Given the description of an element on the screen output the (x, y) to click on. 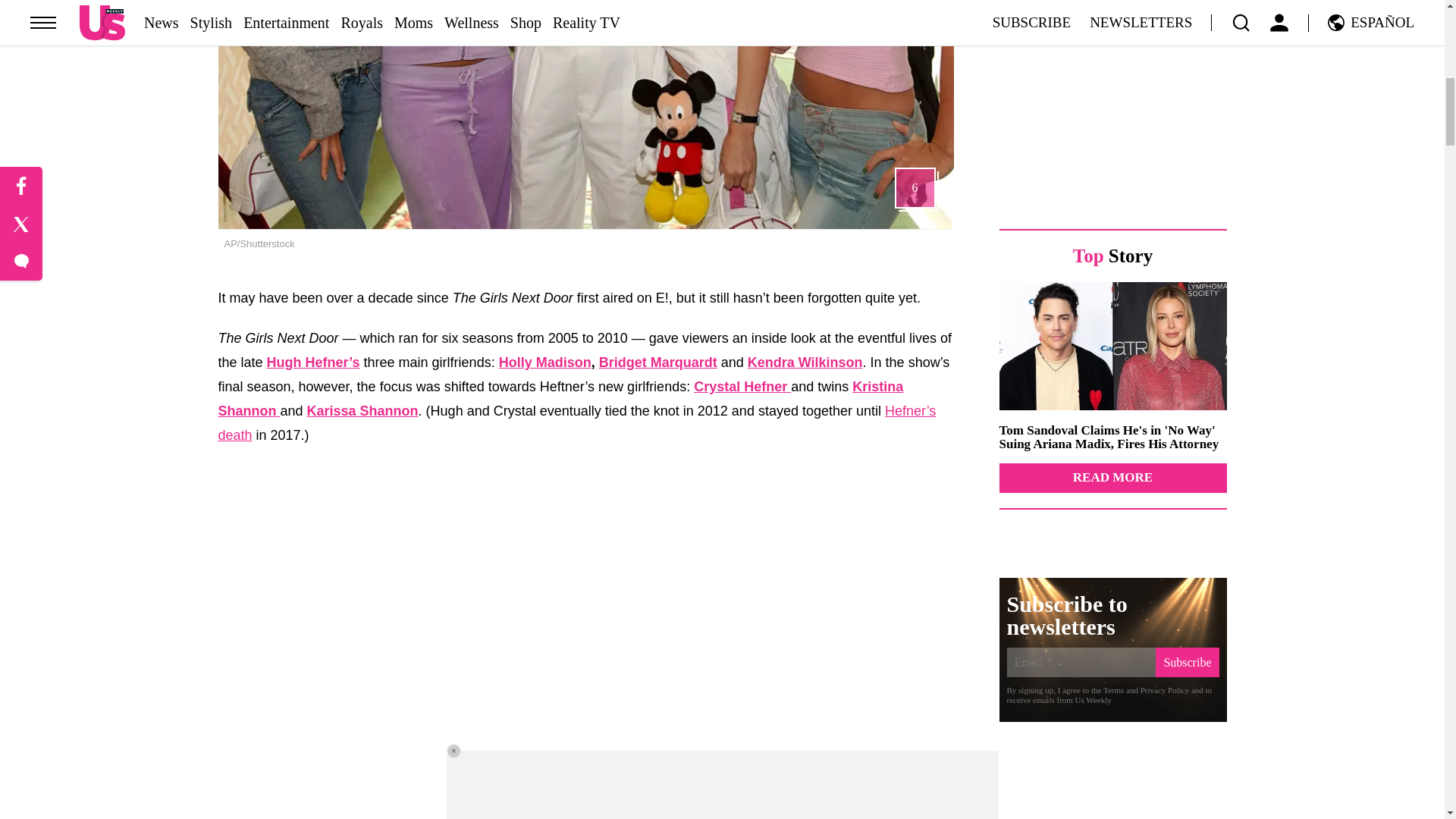
3rd party ad content (1112, 104)
3rd party ad content (1112, 787)
